Given the description of an element on the screen output the (x, y) to click on. 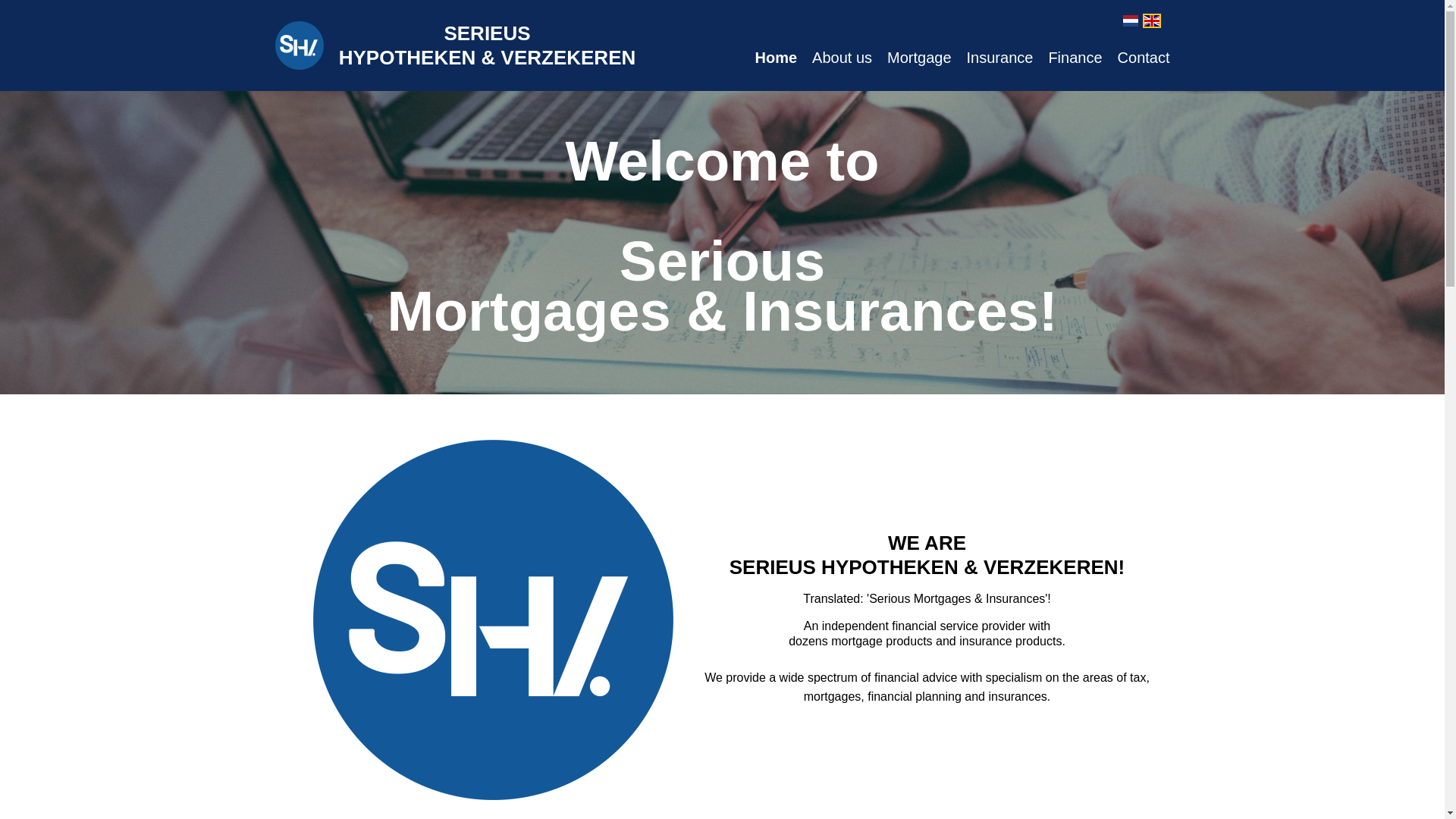
About us (842, 57)
Insurance (1000, 57)
Nederlands (1129, 20)
Finance (1075, 57)
Contact (1143, 57)
English (1150, 20)
Home (776, 57)
Mortgage (919, 57)
Serieus Hypotheken (299, 45)
